Given the description of an element on the screen output the (x, y) to click on. 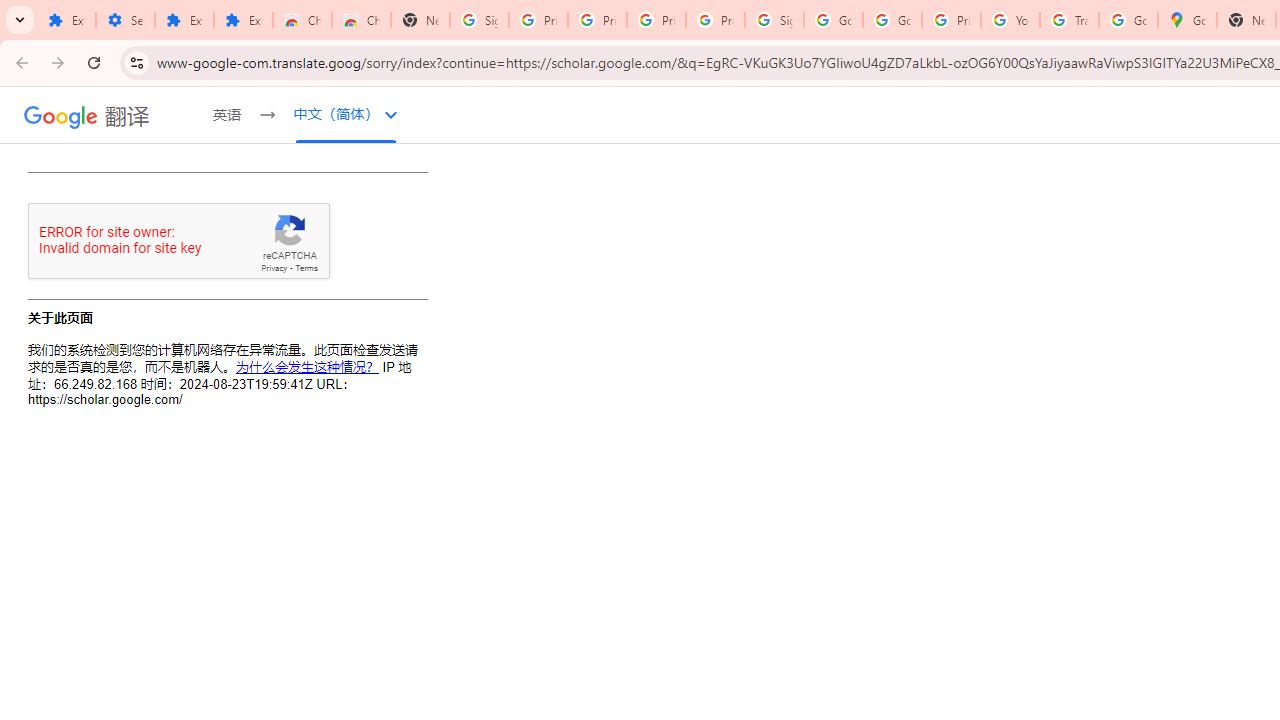
Chrome Web Store - Themes (360, 20)
Sign in - Google Accounts (479, 20)
Chrome Web Store (301, 20)
New Tab (420, 20)
